Given the description of an element on the screen output the (x, y) to click on. 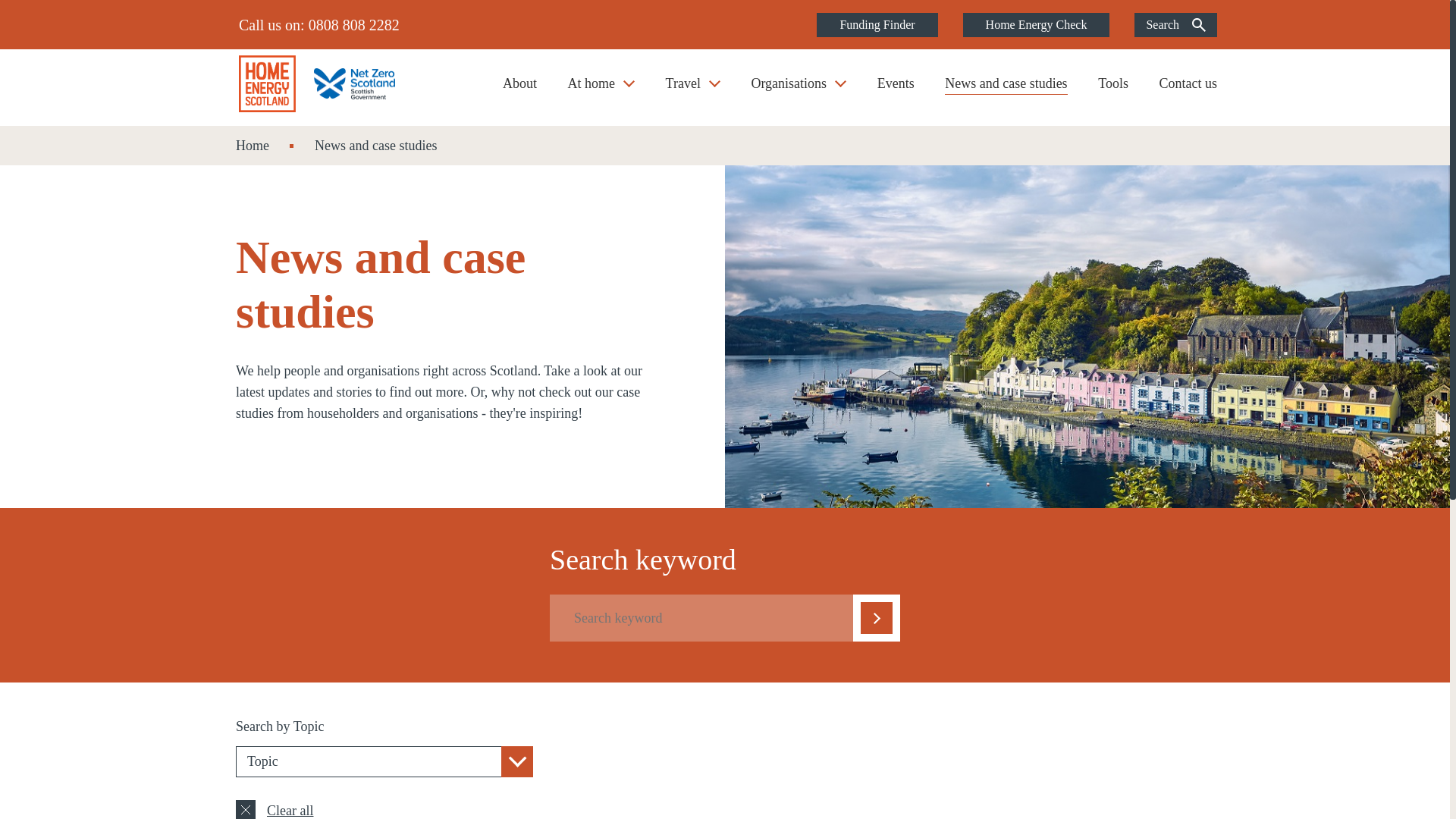
Tools (1112, 90)
Events (895, 90)
Search (1175, 24)
Home Energy Check (1035, 24)
Funding Finder (876, 24)
At home (600, 90)
Contact us (1187, 90)
News and case studies (1005, 90)
Travel (692, 90)
Home (252, 145)
Organisations (798, 90)
0808 808 2282 (353, 24)
About Home Energy Scotland (519, 90)
About (519, 90)
